Given the description of an element on the screen output the (x, y) to click on. 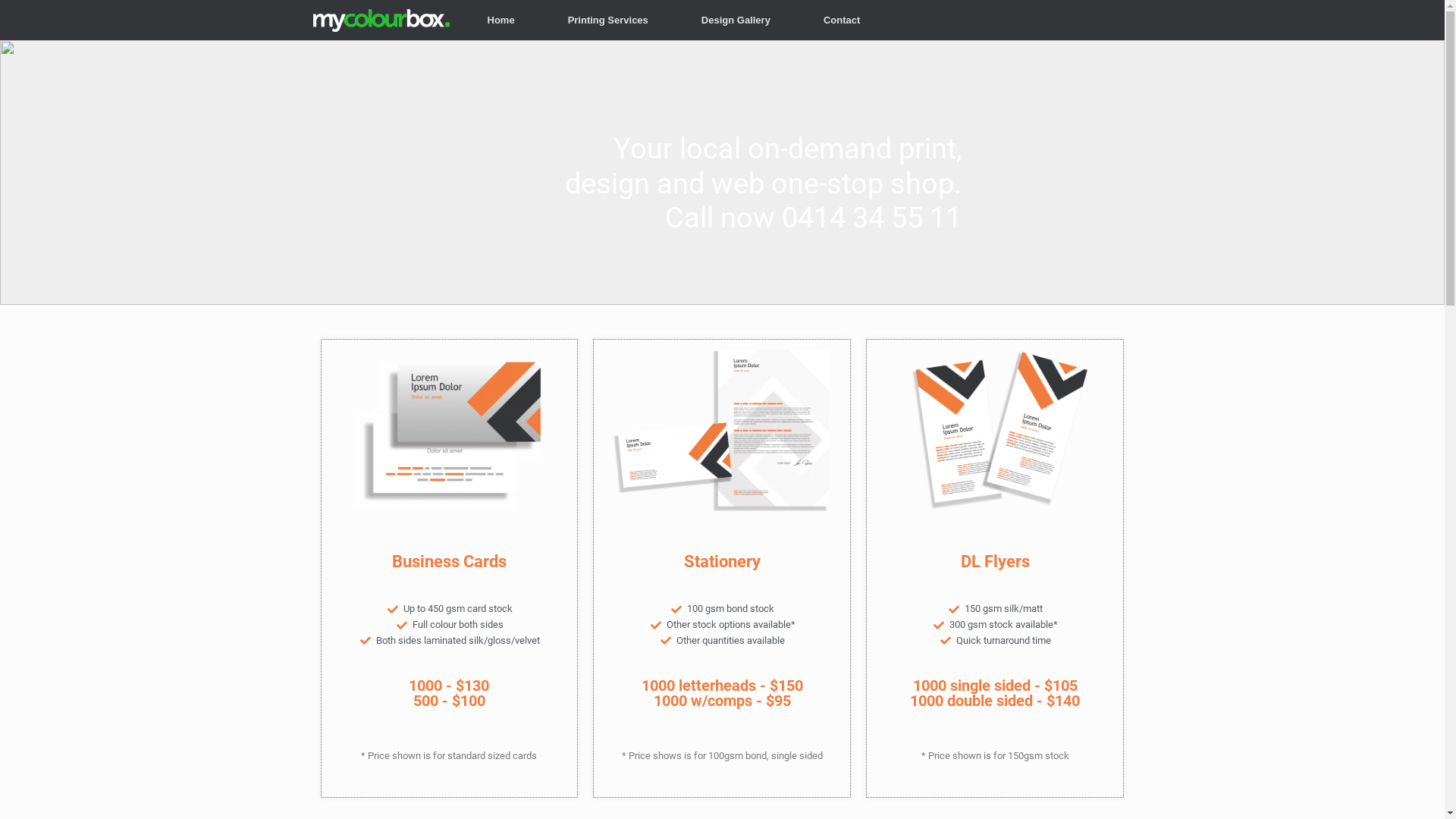
Printing Services Element type: text (607, 20)
MyColourBox Element type: hover (380, 20)
Home Element type: text (501, 20)
Design Gallery Element type: text (735, 20)
Contact Element type: text (841, 20)
